Given the description of an element on the screen output the (x, y) to click on. 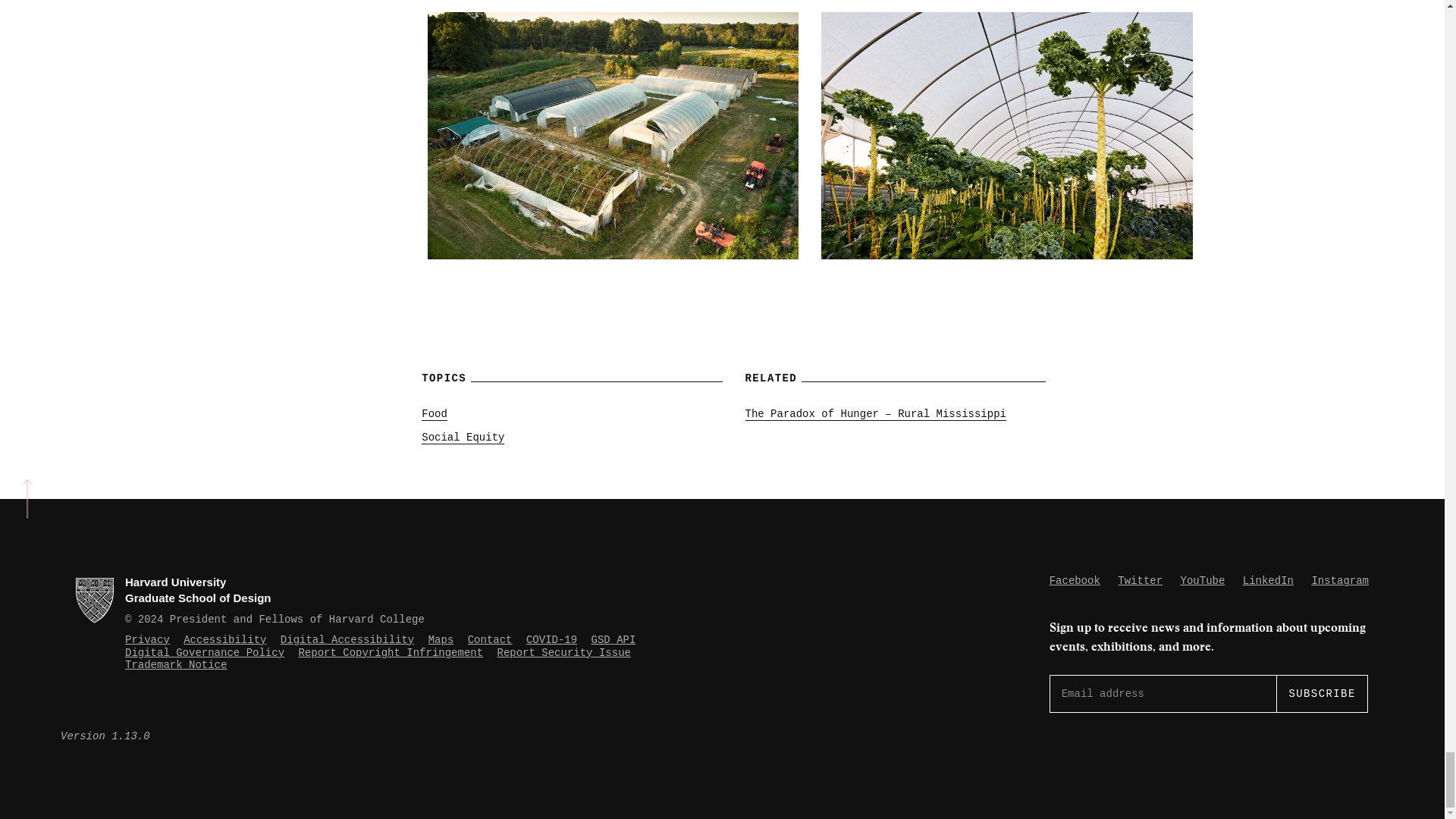
Subscribe (1321, 693)
